Given the description of an element on the screen output the (x, y) to click on. 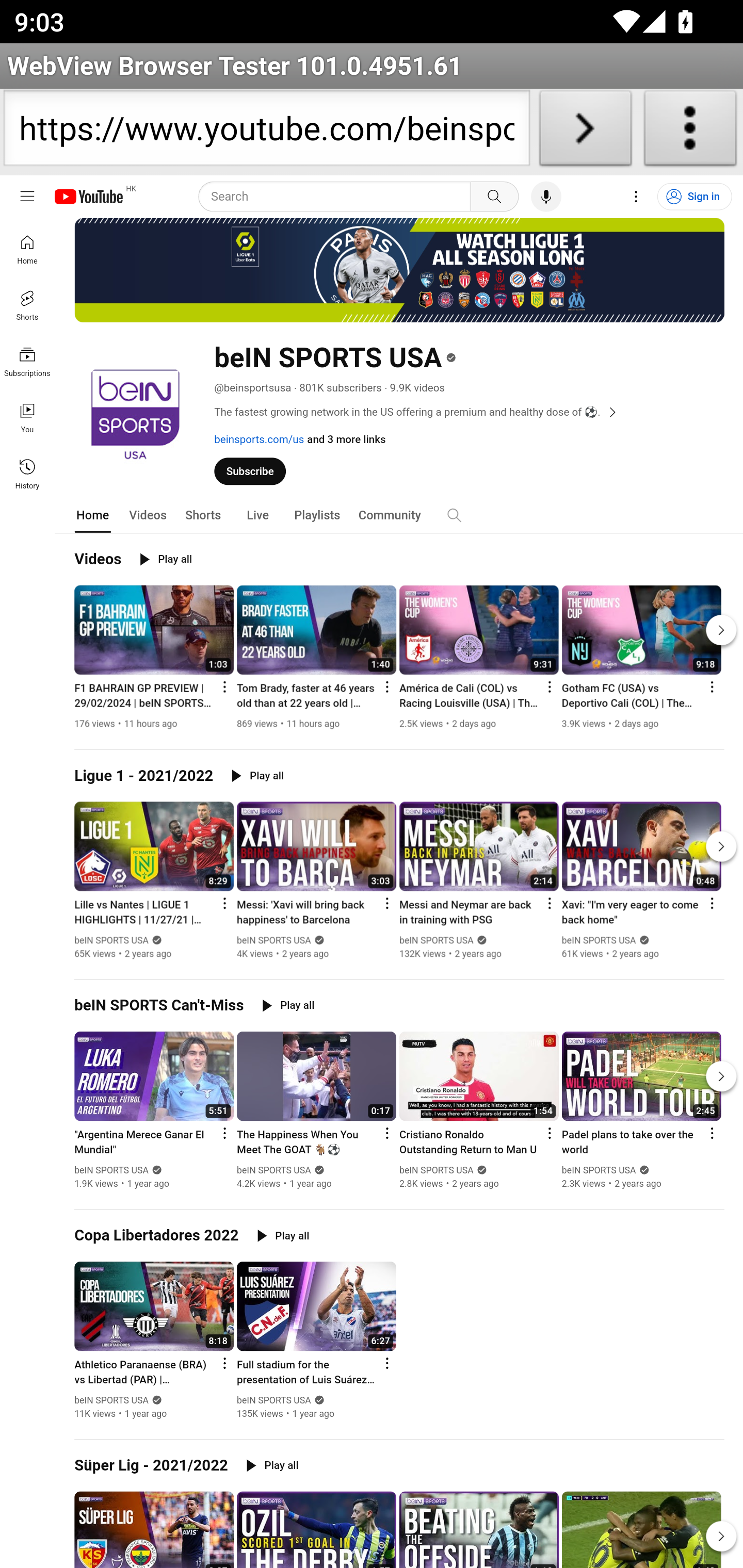
https://www.youtube.com/beinsportsusa (266, 132)
Load URL (585, 132)
About WebView (690, 132)
YouTube Home (88, 196)
Guide (27, 196)
Search (494, 196)
Search with your voice (545, 196)
Settings (635, 196)
Sign in (693, 196)
Home Home Home (26, 249)
Shorts Shorts Shorts (26, 305)
Subscriptions Subscriptions Subscriptions (26, 360)
beIN SPORTS USA (331, 357)
You You You (26, 417)
beinsports.com/us (258, 439)
and 3 more links (345, 439)
History History History (26, 473)
Subscribe (249, 471)
Home Videos Shorts Live Playlists Community Search (399, 514)
Home (92, 514)
Videos (147, 514)
Shorts (202, 514)
Live (257, 514)
Playlists (316, 514)
Community (389, 514)
Search (453, 514)
Play all (166, 558)
Videos (97, 558)
Next (721, 629)
Action menu (224, 686)
Action menu (386, 686)
Action menu (549, 686)
Action menu (712, 686)
Play all (257, 775)
Ligue 1 - 2021/2022 (143, 775)
Next (721, 846)
Action menu (224, 902)
Action menu (386, 902)
Action menu (549, 902)
Action menu (712, 902)
beIN SPORTS USA beIN SPORTS USA beIN SPORTS USA (111, 939)
beIN SPORTS USA beIN SPORTS USA beIN SPORTS USA (274, 939)
beIN SPORTS USA beIN SPORTS USA beIN SPORTS USA (436, 939)
beIN SPORTS USA beIN SPORTS USA beIN SPORTS USA (598, 939)
beIN SPORTS USA (599, 939)
Verified (154, 939)
Verified (316, 939)
Verified (479, 939)
Verified (642, 939)
Play all (287, 1005)
beIN SPORTS Can't-Miss (158, 1005)
Next (721, 1075)
Action menu (224, 1132)
Action menu (386, 1132)
Action menu (549, 1132)
Action menu (712, 1132)
beIN SPORTS USA beIN SPORTS USA beIN SPORTS USA (111, 1170)
beIN SPORTS USA beIN SPORTS USA beIN SPORTS USA (274, 1170)
beIN SPORTS USA beIN SPORTS USA beIN SPORTS USA (436, 1170)
beIN SPORTS USA beIN SPORTS USA beIN SPORTS USA (598, 1170)
Verified (154, 1169)
Verified (316, 1169)
Verified (479, 1169)
Verified (642, 1169)
Play all (282, 1235)
Copa Libertadores 2022 (156, 1235)
Action menu (224, 1362)
Action menu (386, 1362)
beIN SPORTS USA beIN SPORTS USA beIN SPORTS USA (111, 1400)
beIN SPORTS USA beIN SPORTS USA beIN SPORTS USA (274, 1400)
Verified (154, 1398)
Verified (316, 1398)
Play all (272, 1465)
Süper Lig - 2021/2022 (151, 1466)
Next (721, 1535)
